Given the description of an element on the screen output the (x, y) to click on. 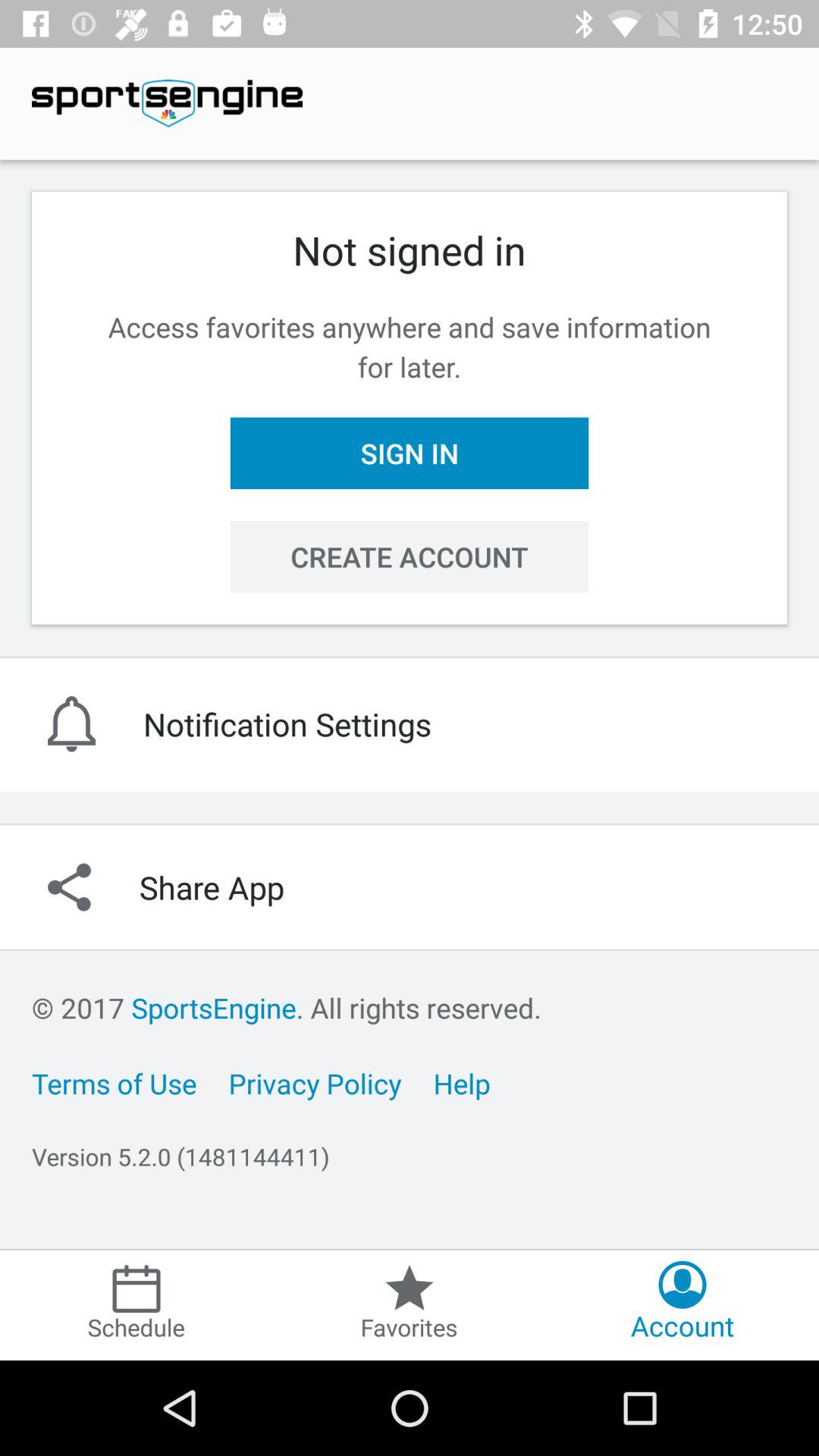
open the icon next to terms of use item (314, 1083)
